Given the description of an element on the screen output the (x, y) to click on. 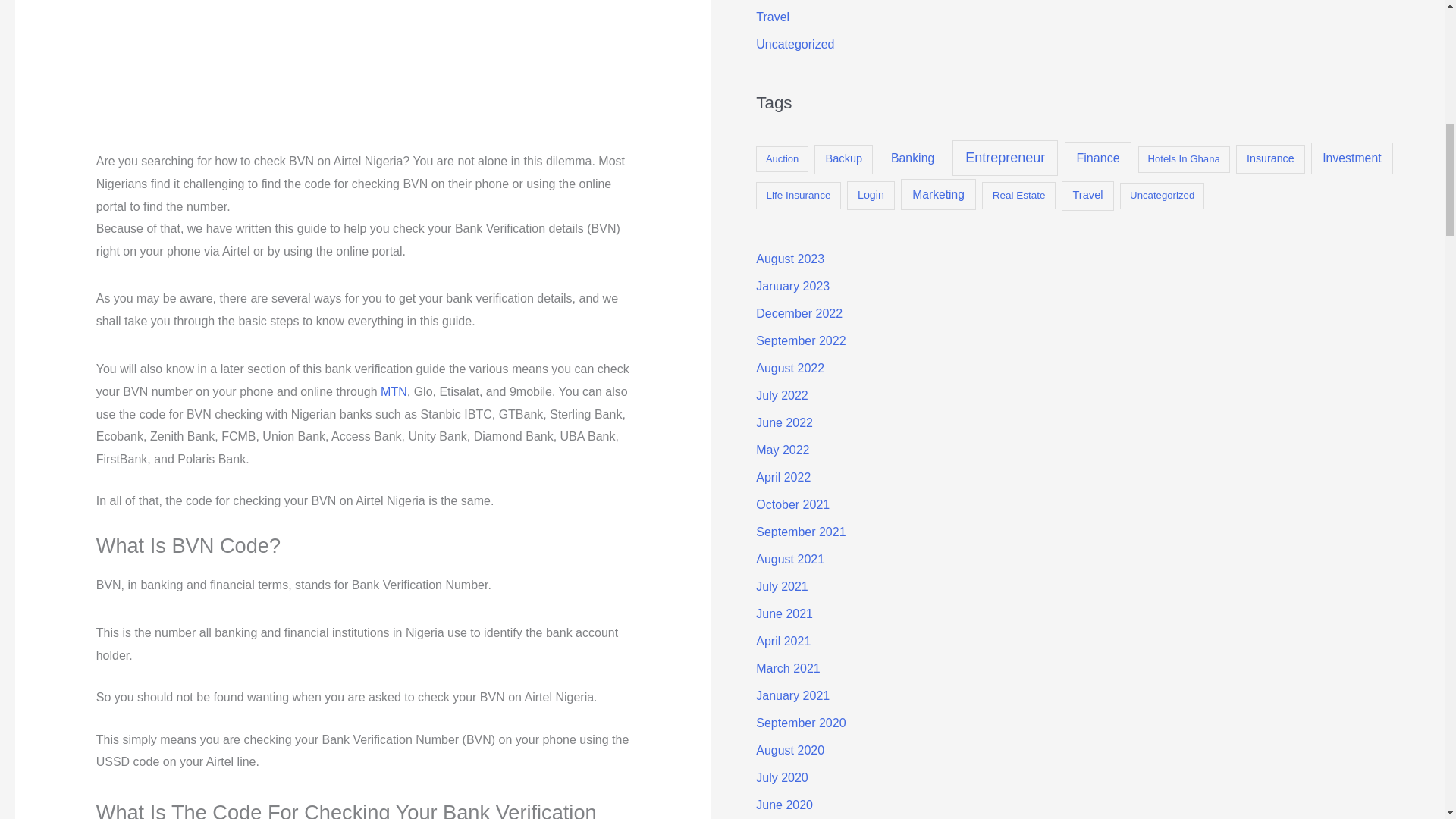
Advertisement (338, 72)
MTN (393, 391)
